Given the description of an element on the screen output the (x, y) to click on. 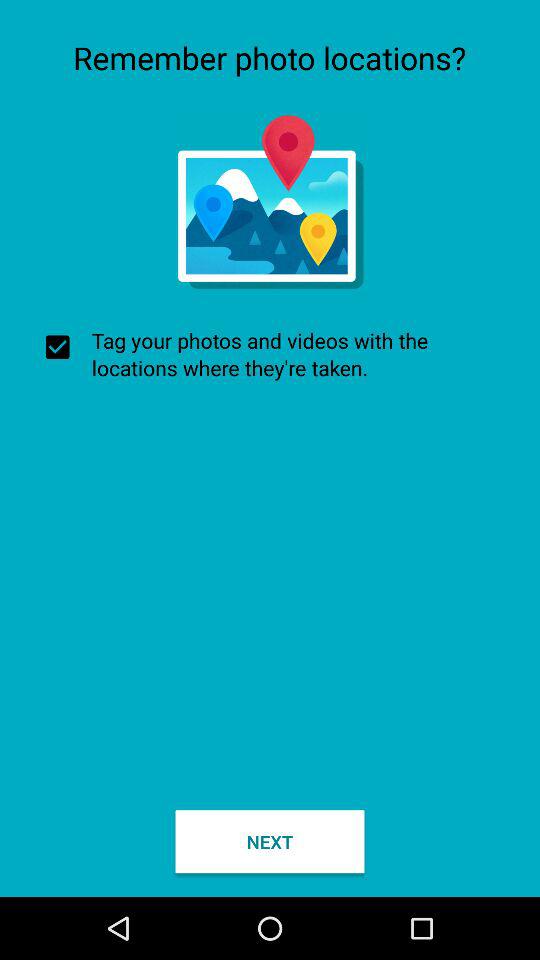
select the next button (269, 841)
